Given the description of an element on the screen output the (x, y) to click on. 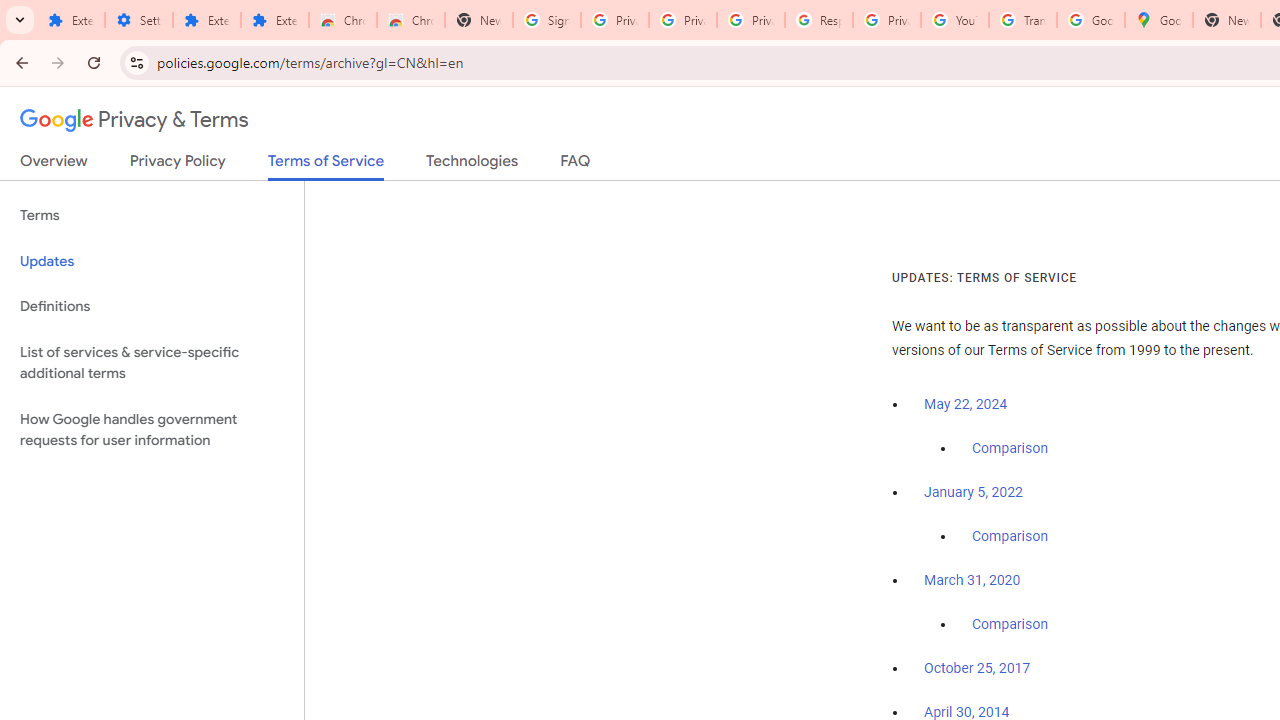
List of services & service-specific additional terms (152, 362)
Chrome Web Store (342, 20)
March 31, 2020 (972, 580)
January 5, 2022 (973, 492)
Comparison (1009, 625)
